Given the description of an element on the screen output the (x, y) to click on. 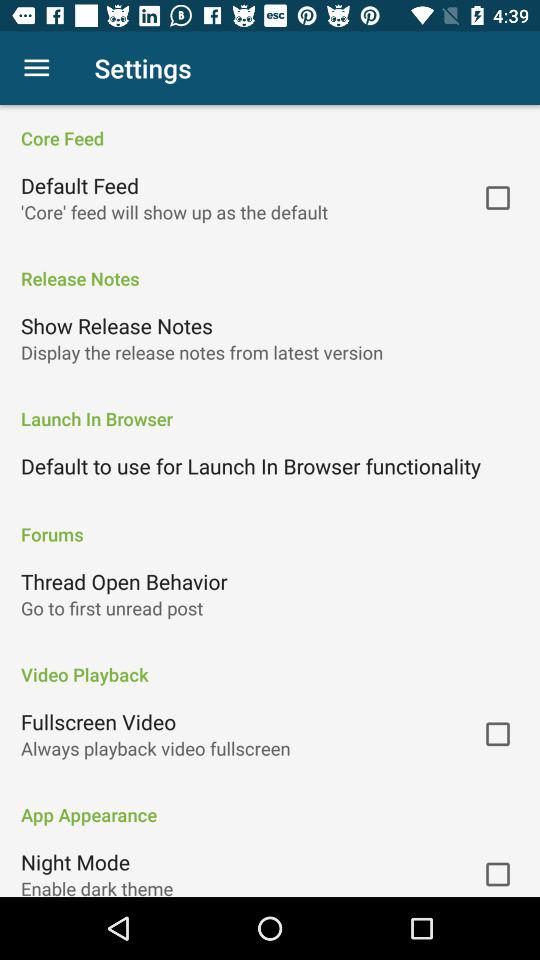
choose the item below the app appearance (75, 861)
